Given the description of an element on the screen output the (x, y) to click on. 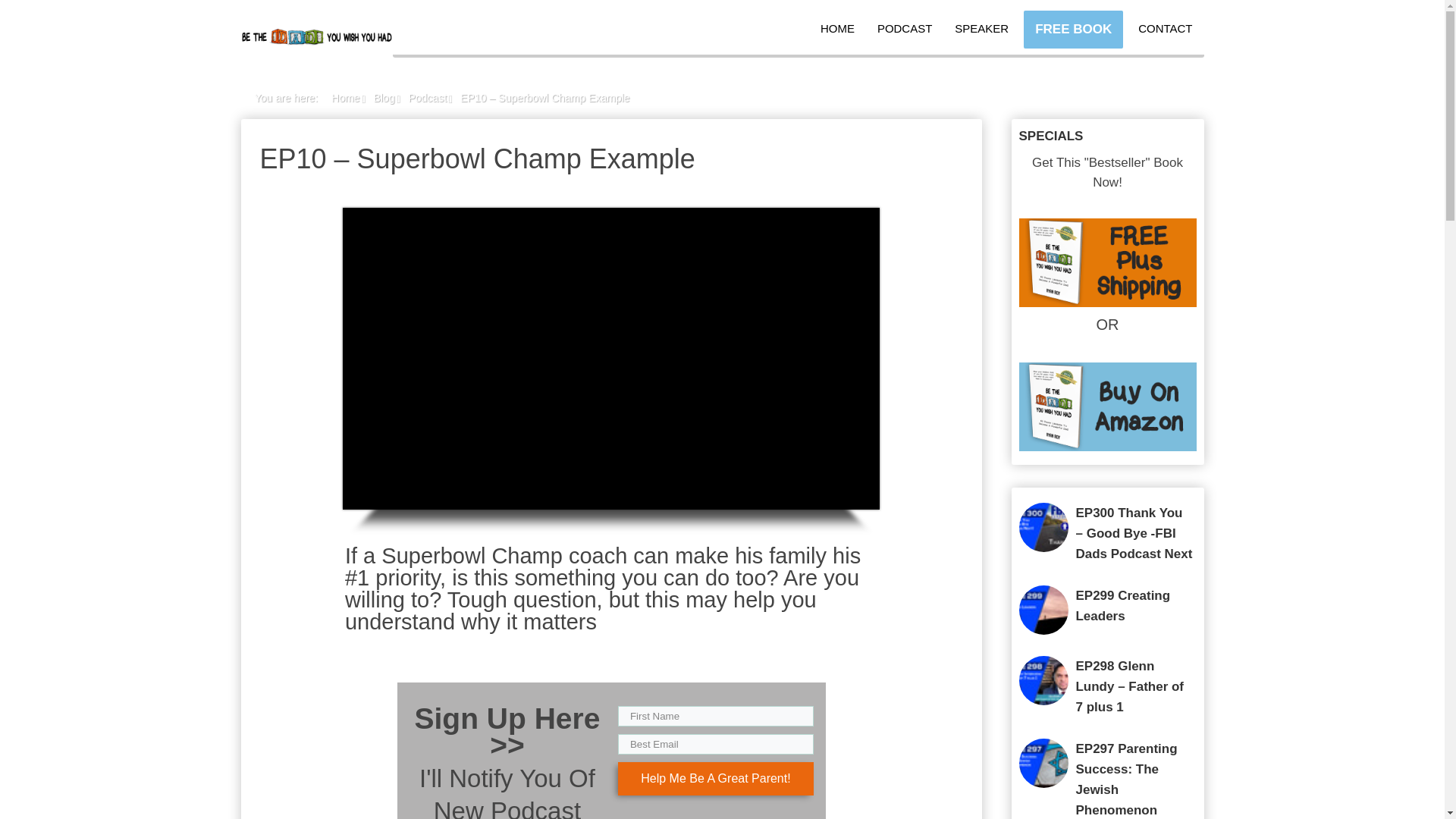
SPEAKER (982, 28)
HOME (837, 28)
EP297 Parenting Success: The Jewish Phenomenon (1125, 779)
EP299 Creating Leaders (1122, 605)
Podcast (426, 97)
FREE BOOK (1072, 29)
CONTACT (1165, 28)
Home (345, 97)
Blog (383, 97)
Help Me Be A Great Parent! (715, 778)
PODCAST (904, 28)
